Given the description of an element on the screen output the (x, y) to click on. 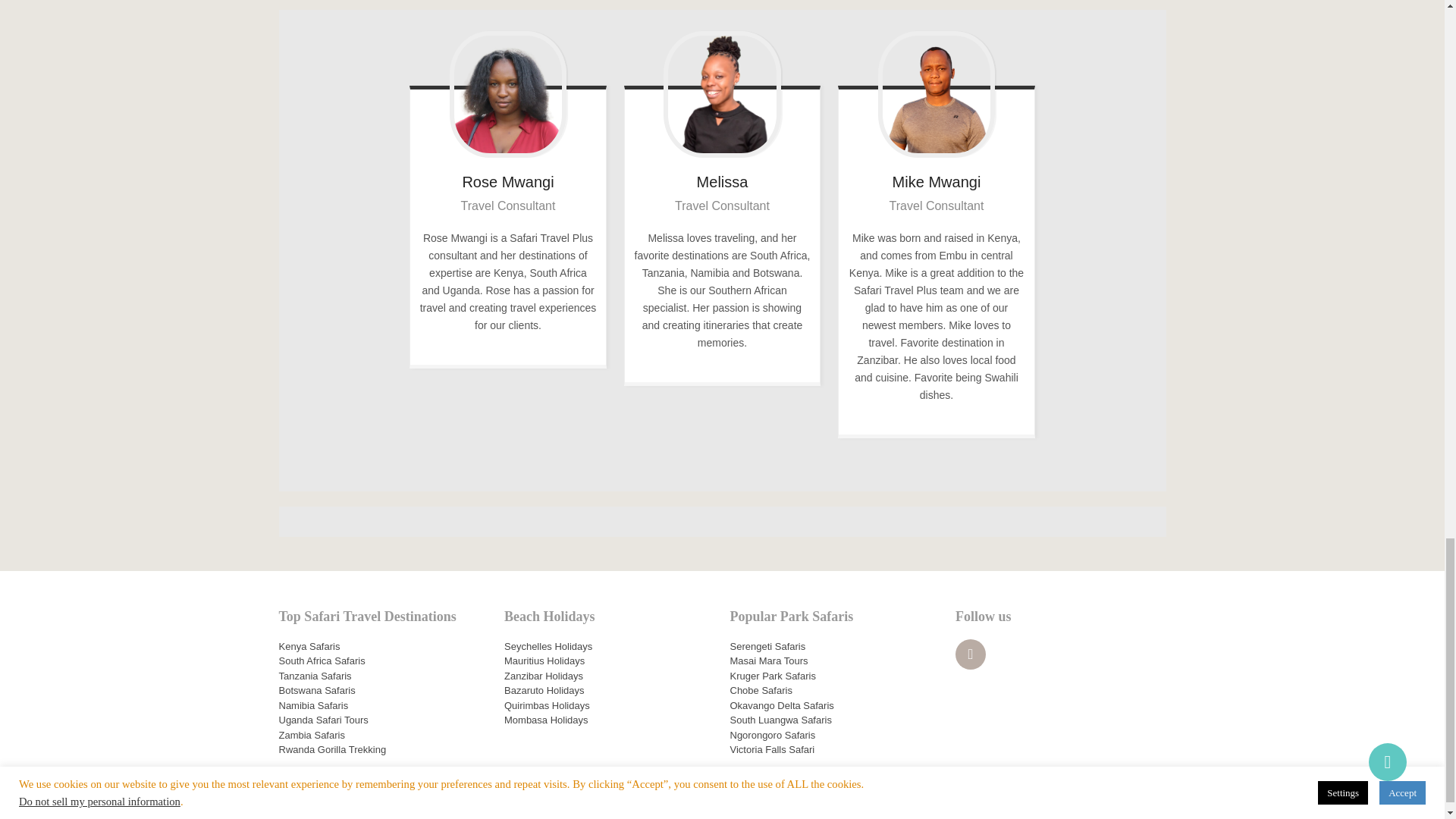
youtube (970, 654)
